Given the description of an element on the screen output the (x, y) to click on. 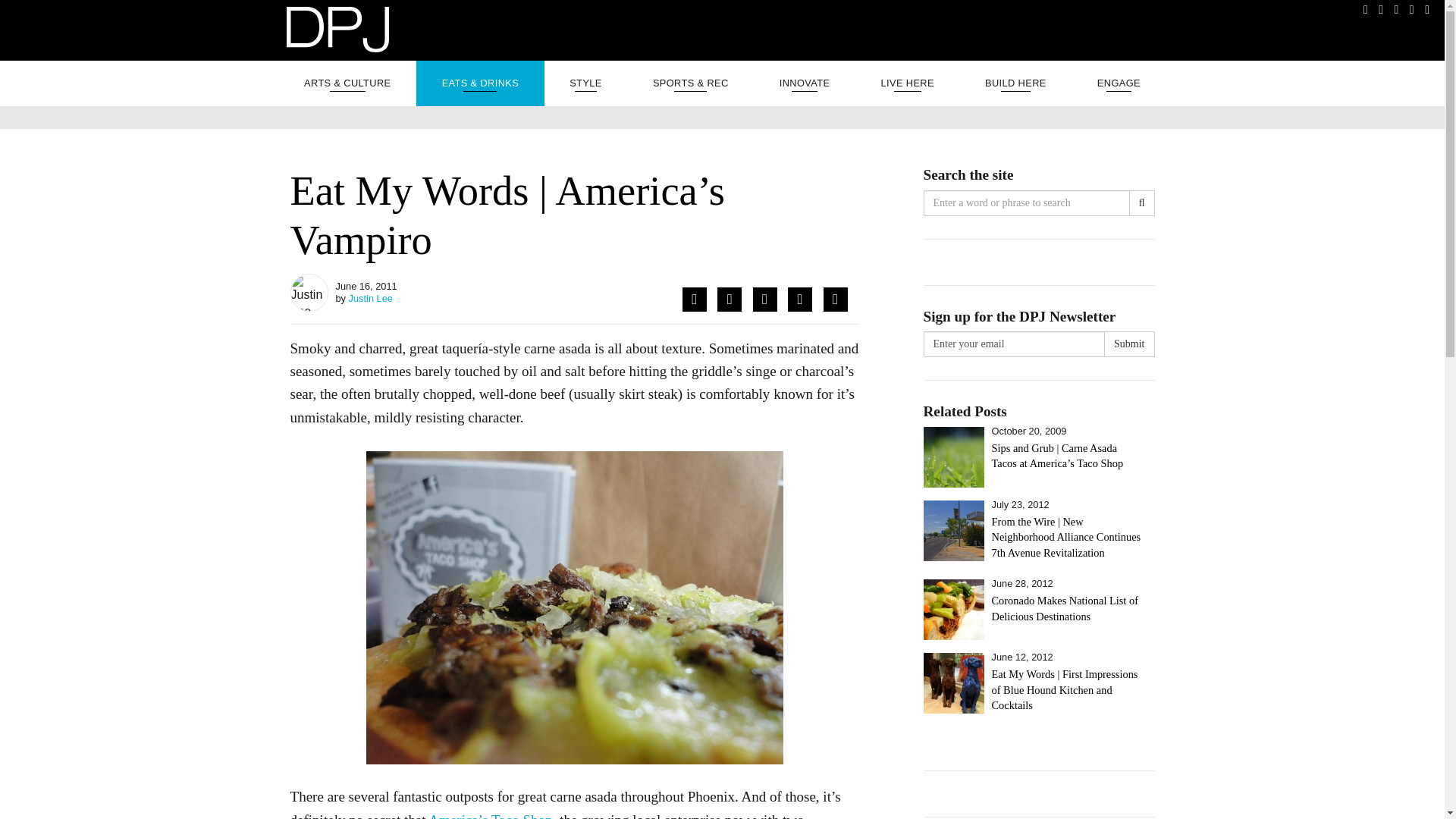
ENGAGE (1118, 83)
Justin Lee (371, 297)
BUILD HERE (1015, 83)
LIVE HERE (907, 83)
Enter your email (1014, 344)
INNOVATE (805, 83)
STYLE (585, 83)
send to Facebook (694, 299)
Submit (1128, 344)
America's Taco Shop (489, 815)
Americas-Vampiro-6 (574, 607)
Posts by Justin Lee (371, 297)
